Given the description of an element on the screen output the (x, y) to click on. 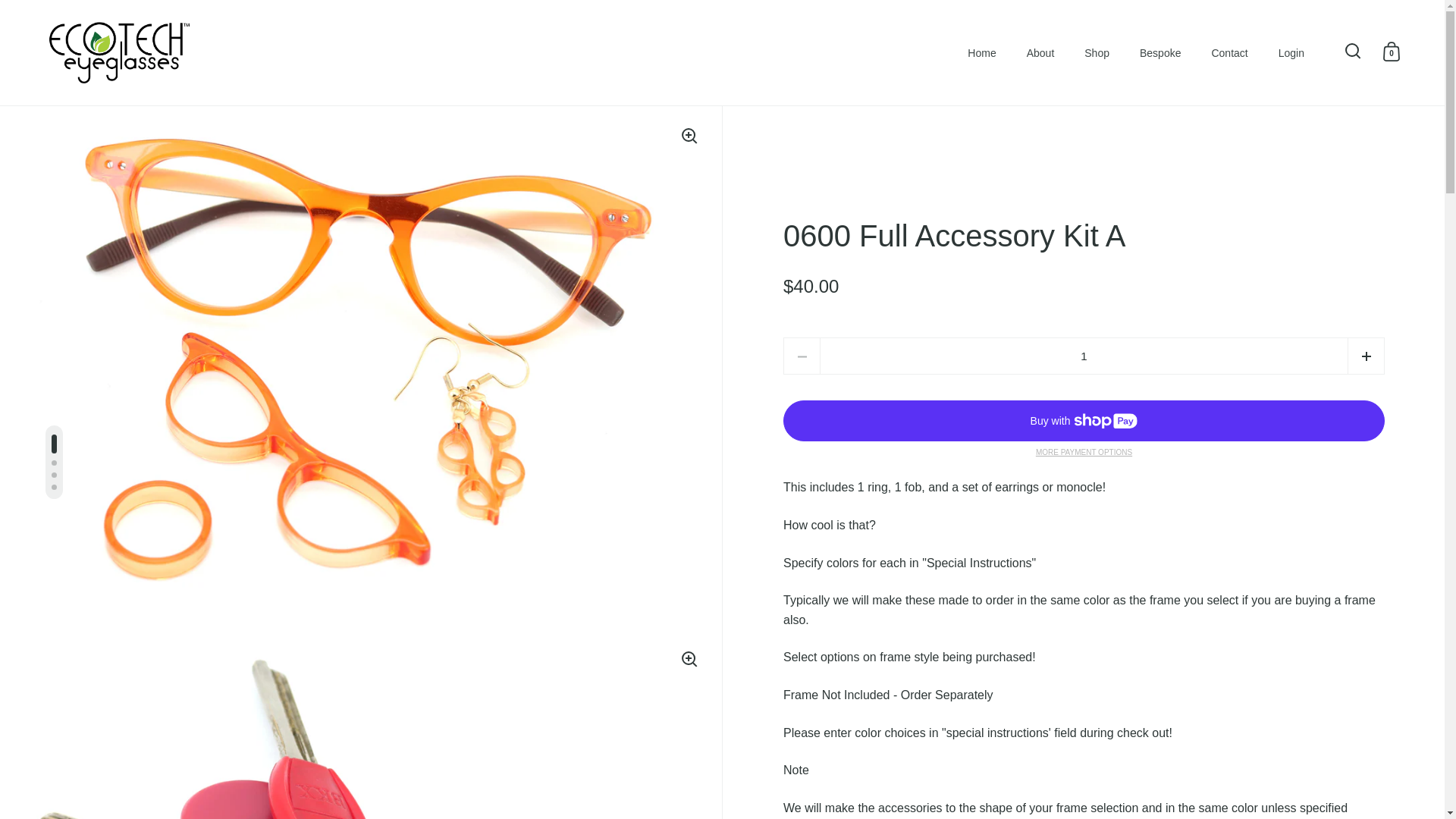
Bespoke (1159, 52)
MORE PAYMENT OPTIONS (1083, 452)
About (1040, 52)
Open cart (1390, 51)
Home (981, 52)
1 (1084, 355)
Contact (1228, 52)
Open search (1353, 51)
Login (1291, 52)
Shop (1096, 52)
